Given the description of an element on the screen output the (x, y) to click on. 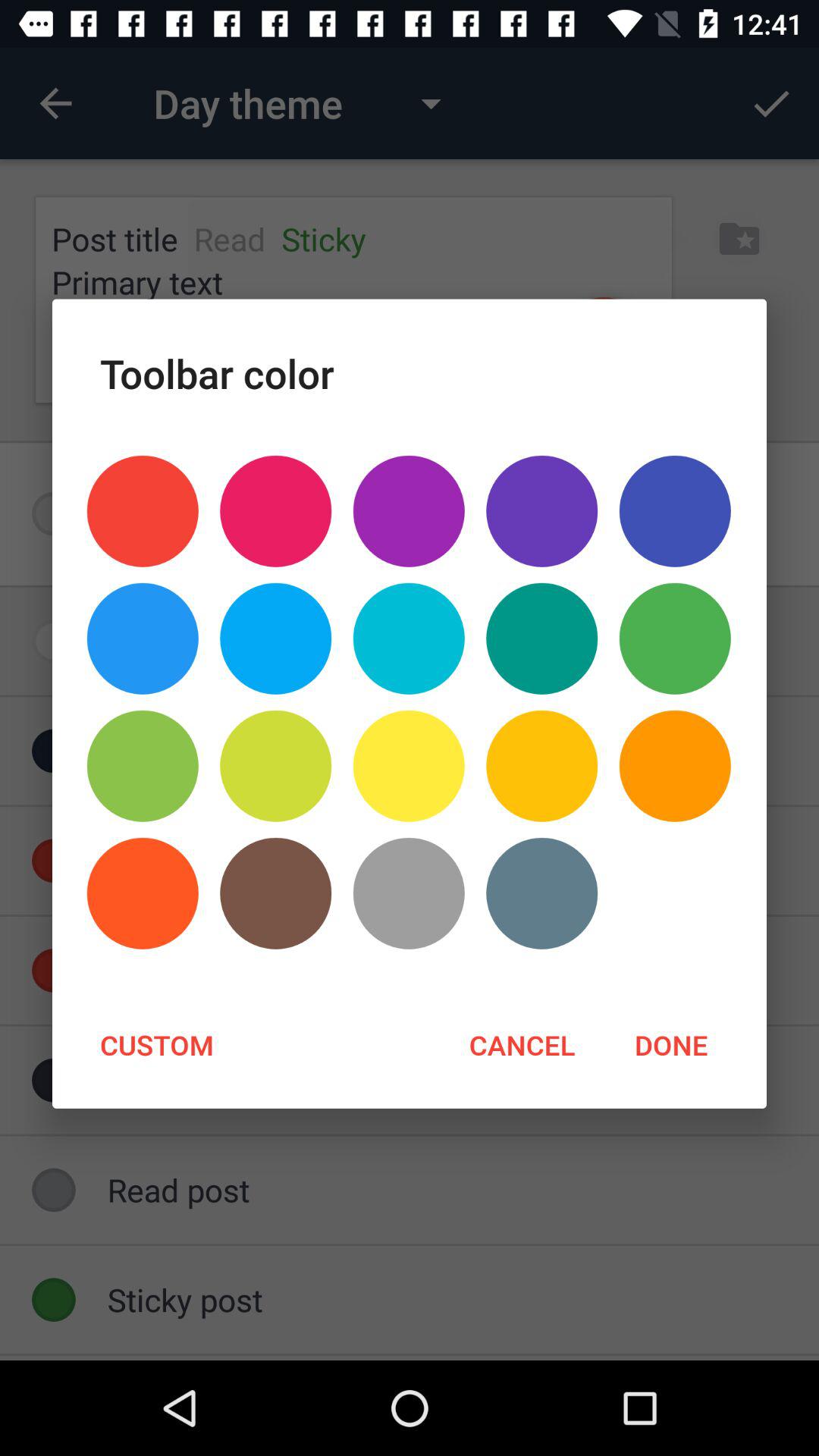
select the icon above cancel item (541, 893)
